Given the description of an element on the screen output the (x, y) to click on. 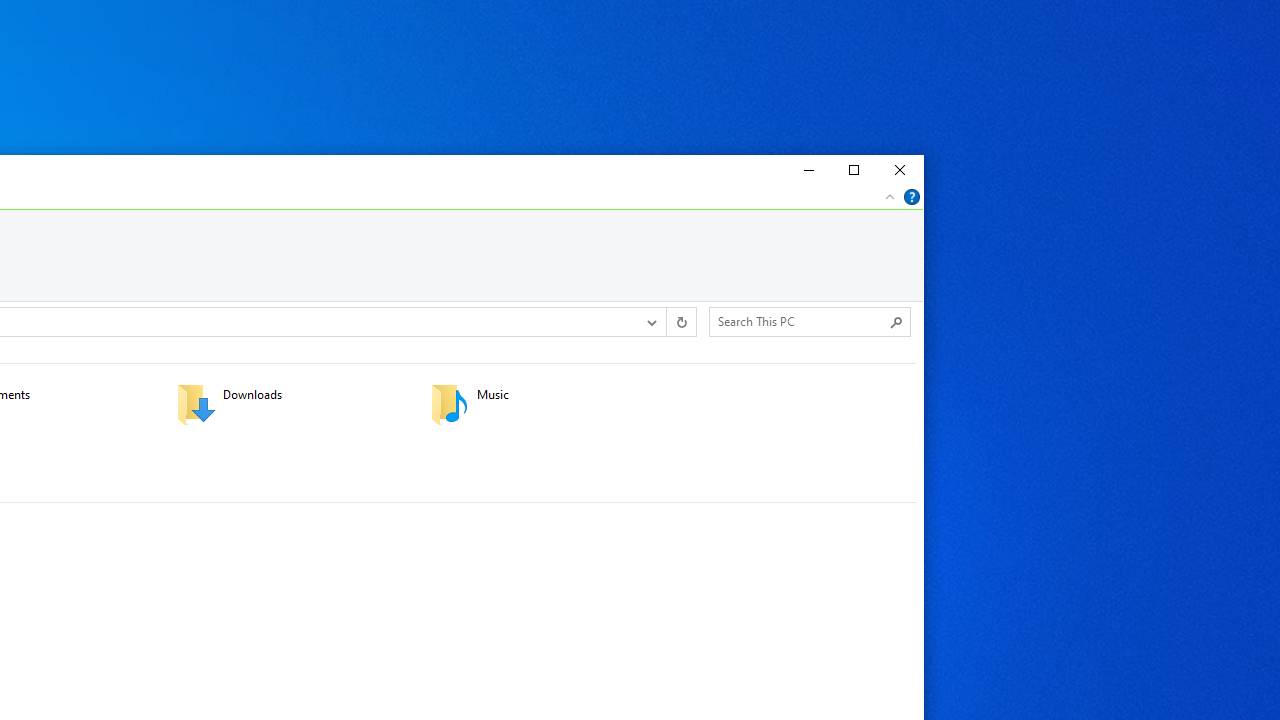
Refresh "This PC" (F5) (680, 321)
Downloads (291, 403)
Minimize the Ribbon (890, 196)
Search Box (799, 321)
Minimize (806, 170)
Help (911, 196)
Music (544, 403)
Search (896, 321)
Address band toolbar (666, 321)
Name (569, 395)
Close (900, 170)
Previous Locations (650, 321)
Maximize (853, 170)
